Given the description of an element on the screen output the (x, y) to click on. 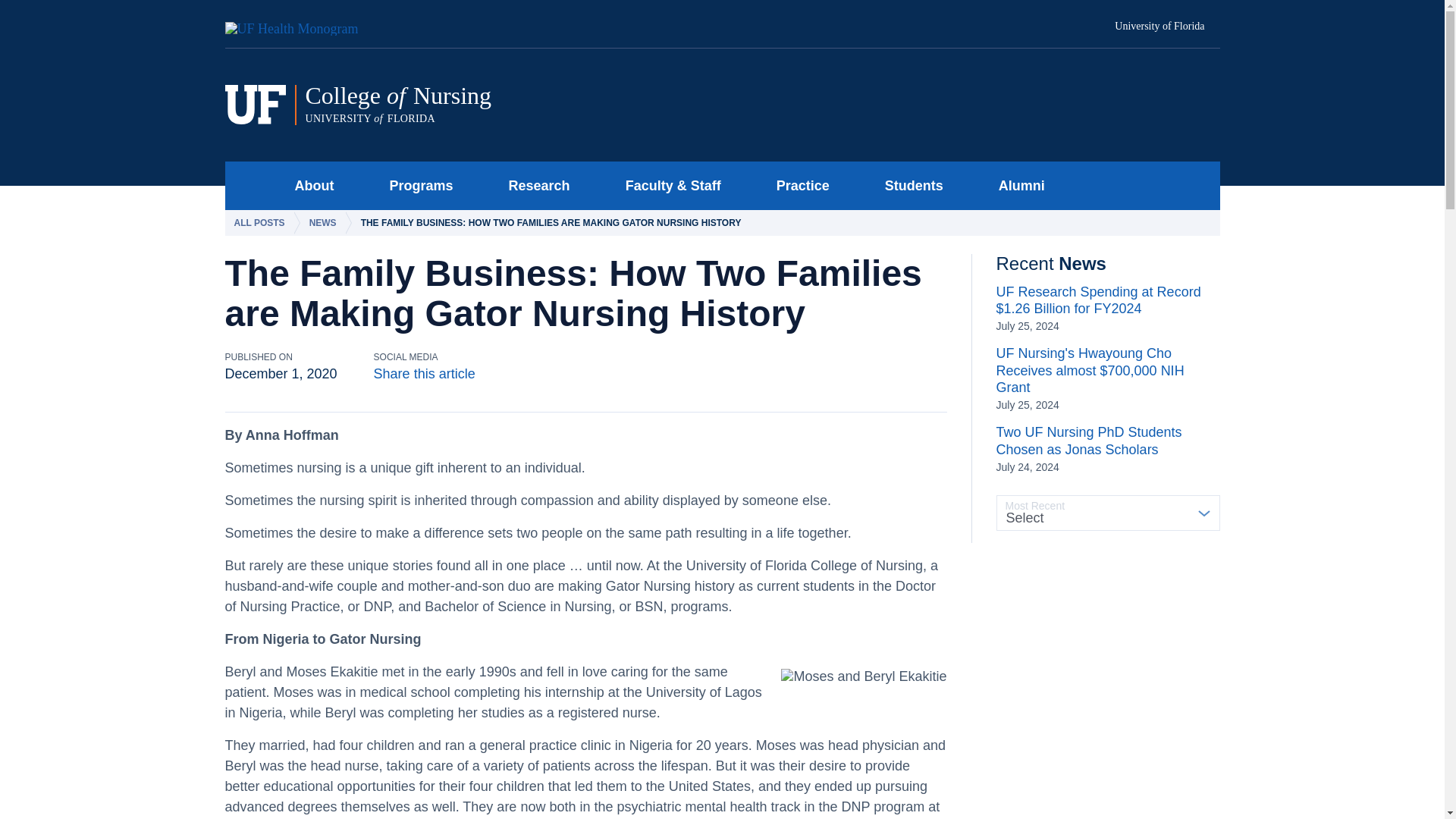
UF Health (299, 24)
Research (534, 185)
University of Florida (1167, 26)
About (515, 105)
Home (309, 185)
Programs (250, 185)
